Given the description of an element on the screen output the (x, y) to click on. 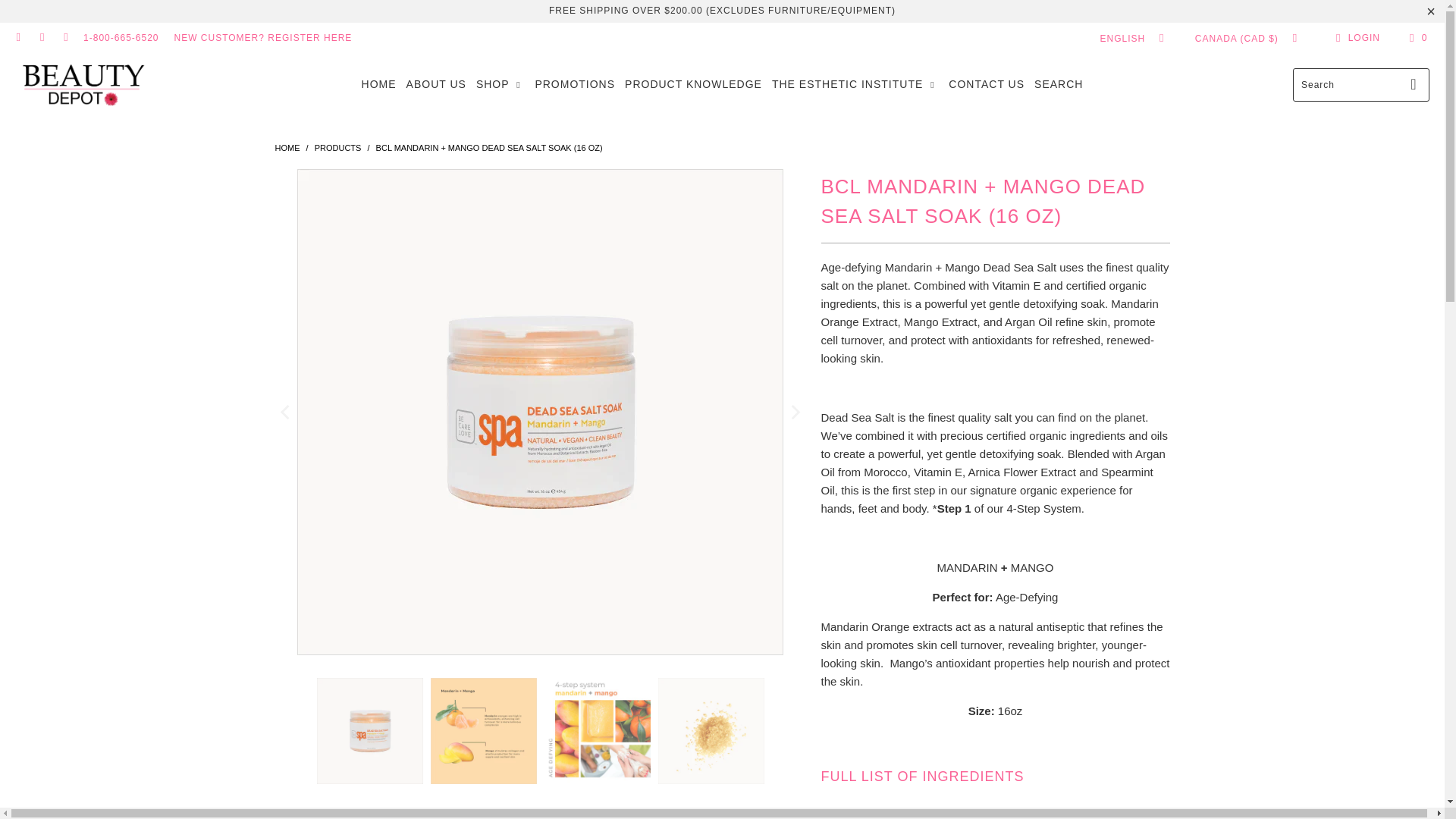
Beauty Depot (287, 147)
Beauty Depot on Facebook (17, 37)
Beauty Depot on Instagram (41, 37)
Products (337, 147)
Beauty Depot (82, 84)
Email Beauty Depot (65, 37)
My Account  (1355, 37)
